Given the description of an element on the screen output the (x, y) to click on. 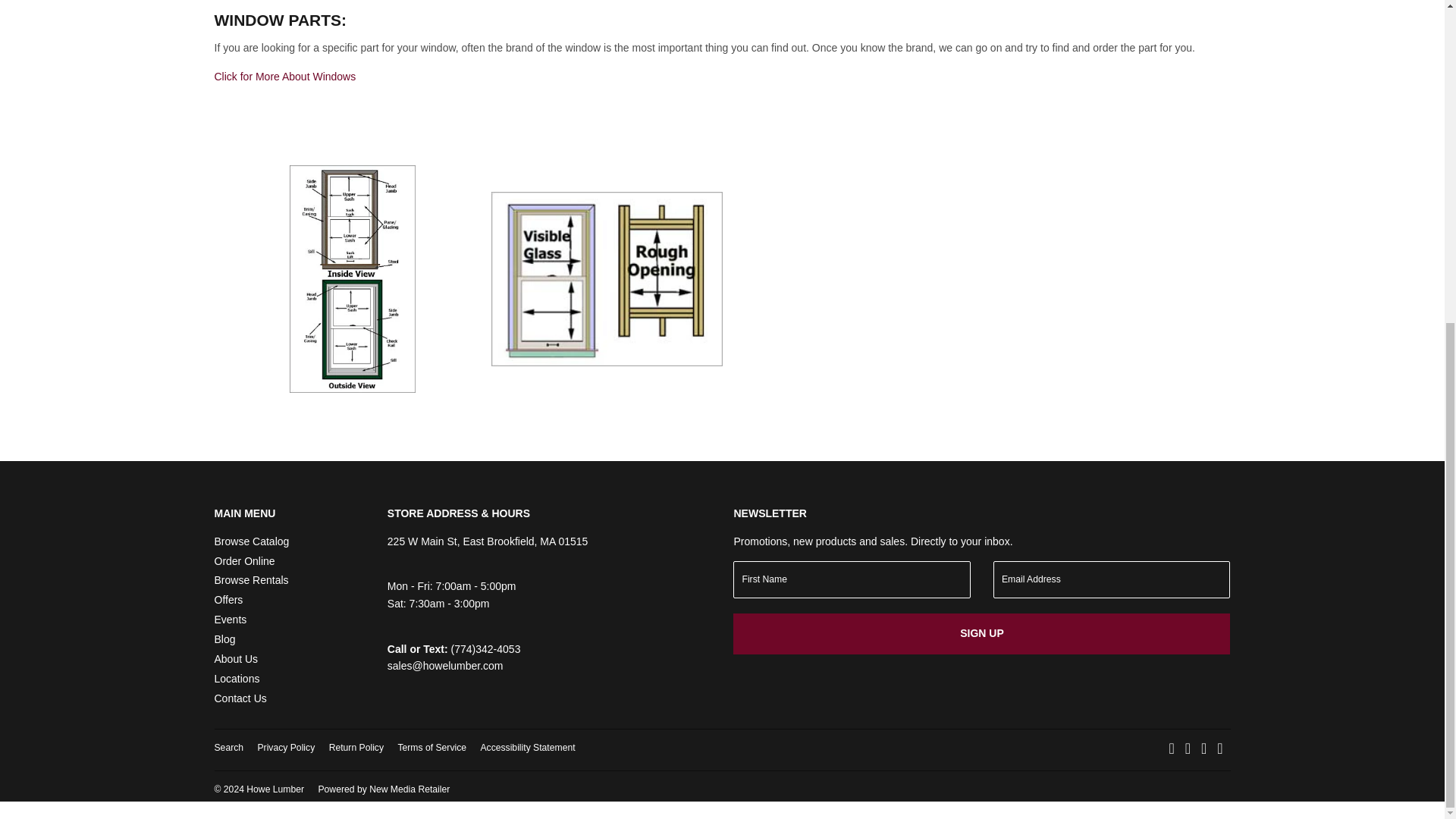
Howe Lumber on Facebook (1171, 749)
Howe Lumber on Instagram (1188, 749)
Howe Lumber on Tiktok (1220, 749)
New Media Retailer (383, 788)
Howe Lumber on YouTube (1204, 749)
